Given the description of an element on the screen output the (x, y) to click on. 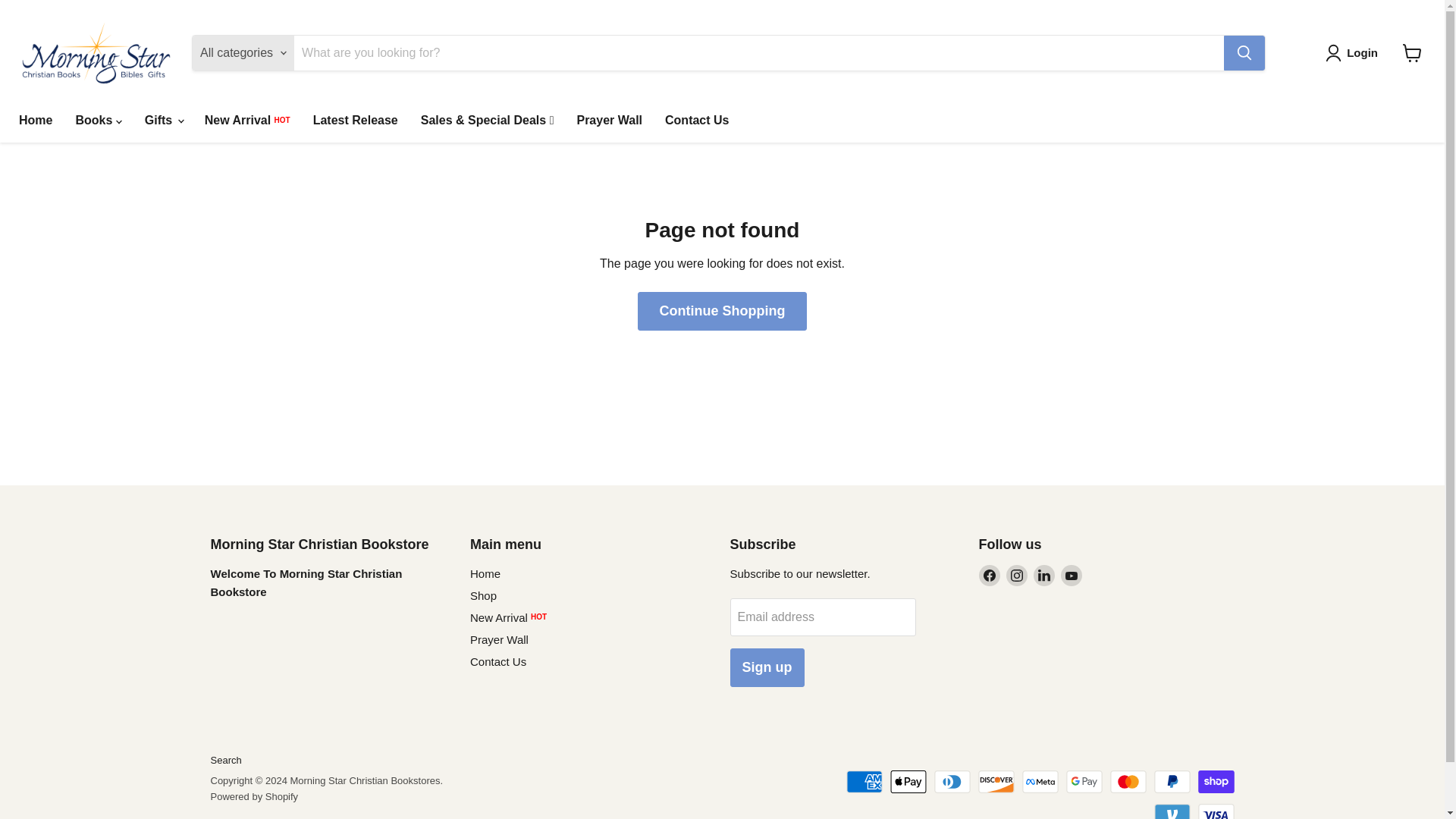
Contact Us (696, 120)
LinkedIn (1043, 575)
New Arrival HOT (247, 120)
View cart (1411, 52)
American Express (863, 781)
Venmo (1172, 811)
Mastercard (1128, 781)
Apple Pay (907, 781)
Prayer Wall (608, 120)
YouTube (1070, 575)
